Given the description of an element on the screen output the (x, y) to click on. 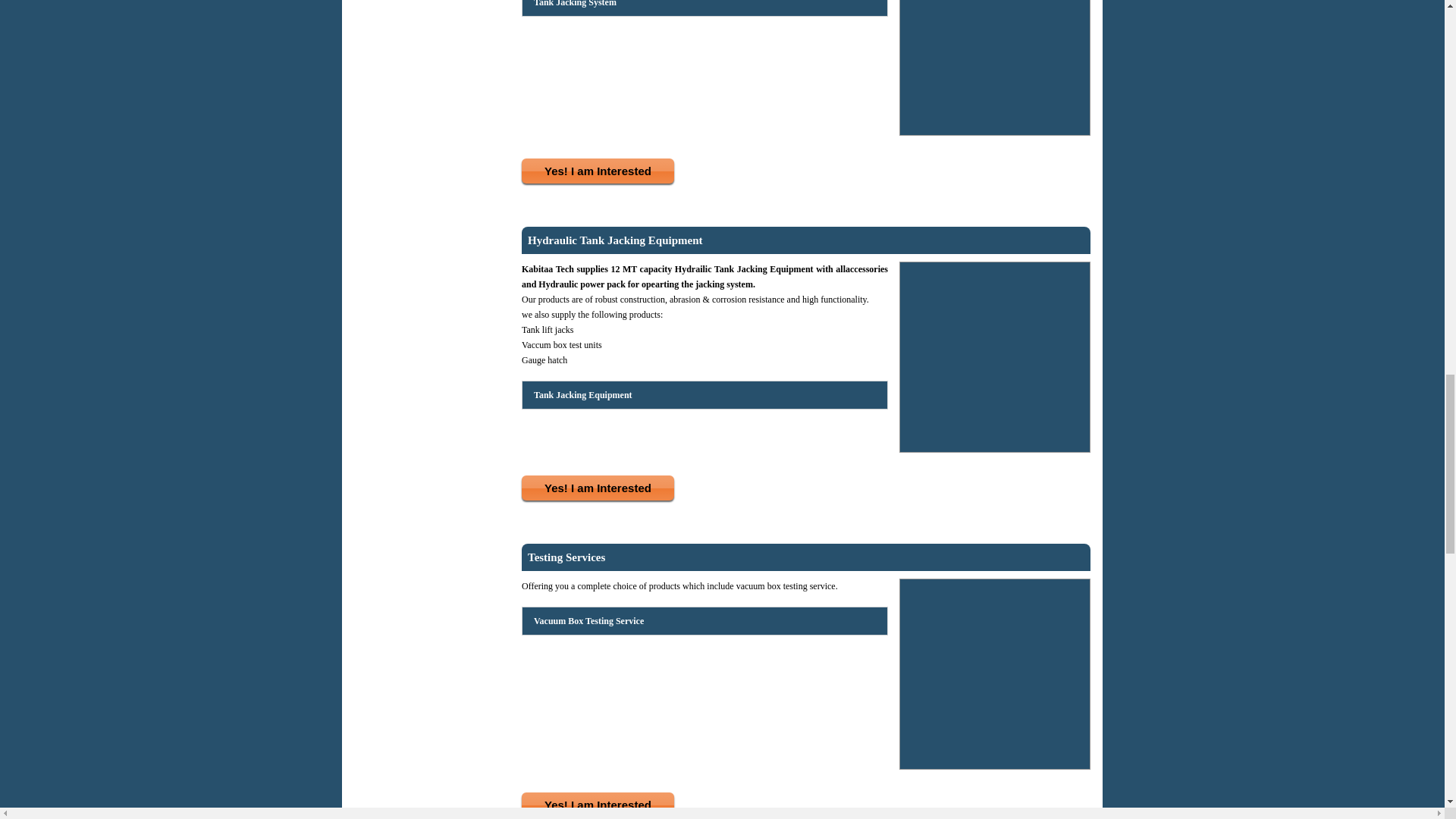
Testing Services (566, 557)
Tank Jacking System (573, 6)
Hydraulic Tank Jacking Equipment (615, 240)
Tank Jacking Equipment (581, 395)
Vacuum Box Testing Service (587, 620)
